Given the description of an element on the screen output the (x, y) to click on. 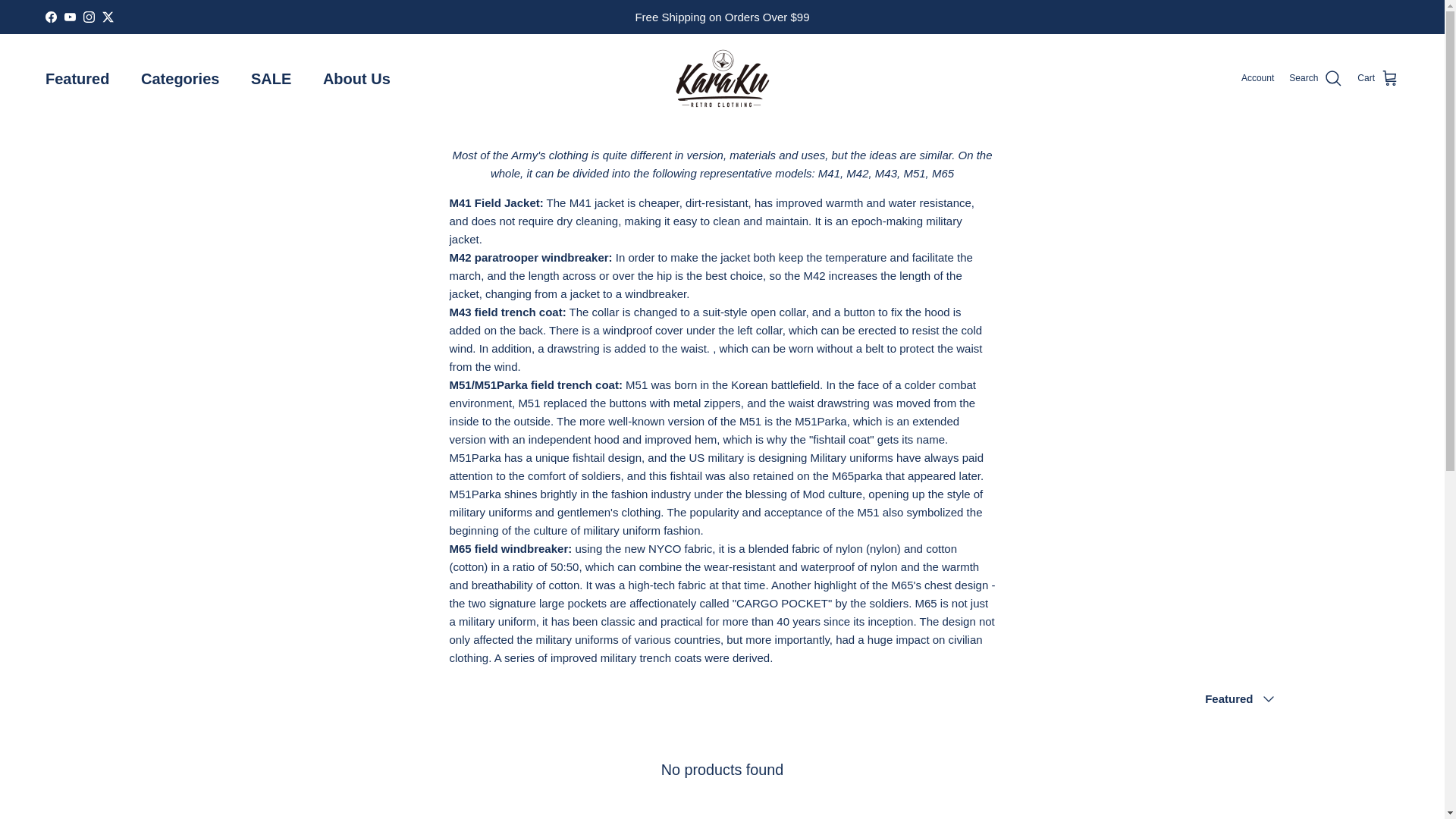
Search (1315, 77)
Karaku on Twitter (107, 16)
Cart (1377, 77)
Account (1257, 78)
About Us (356, 77)
Karaku on YouTube (69, 16)
Facebook (50, 16)
YouTube (69, 16)
Karaku on Instagram (88, 16)
Instagram (88, 16)
Categories (180, 77)
Featured (77, 77)
Twitter (107, 16)
Karaku (721, 78)
SALE (270, 77)
